Given the description of an element on the screen output the (x, y) to click on. 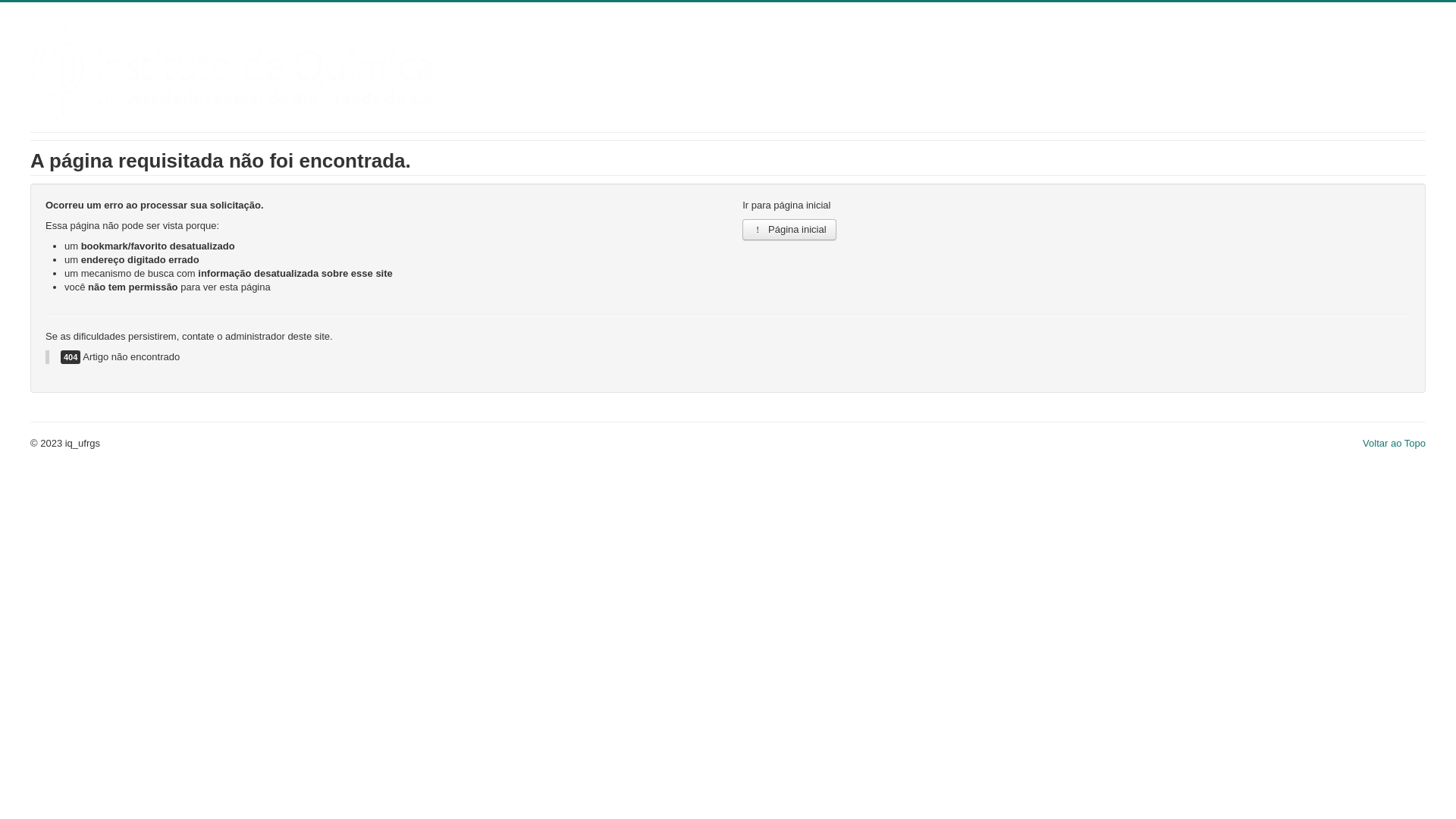
Voltar ao Topo Element type: text (1393, 442)
